Given the description of an element on the screen output the (x, y) to click on. 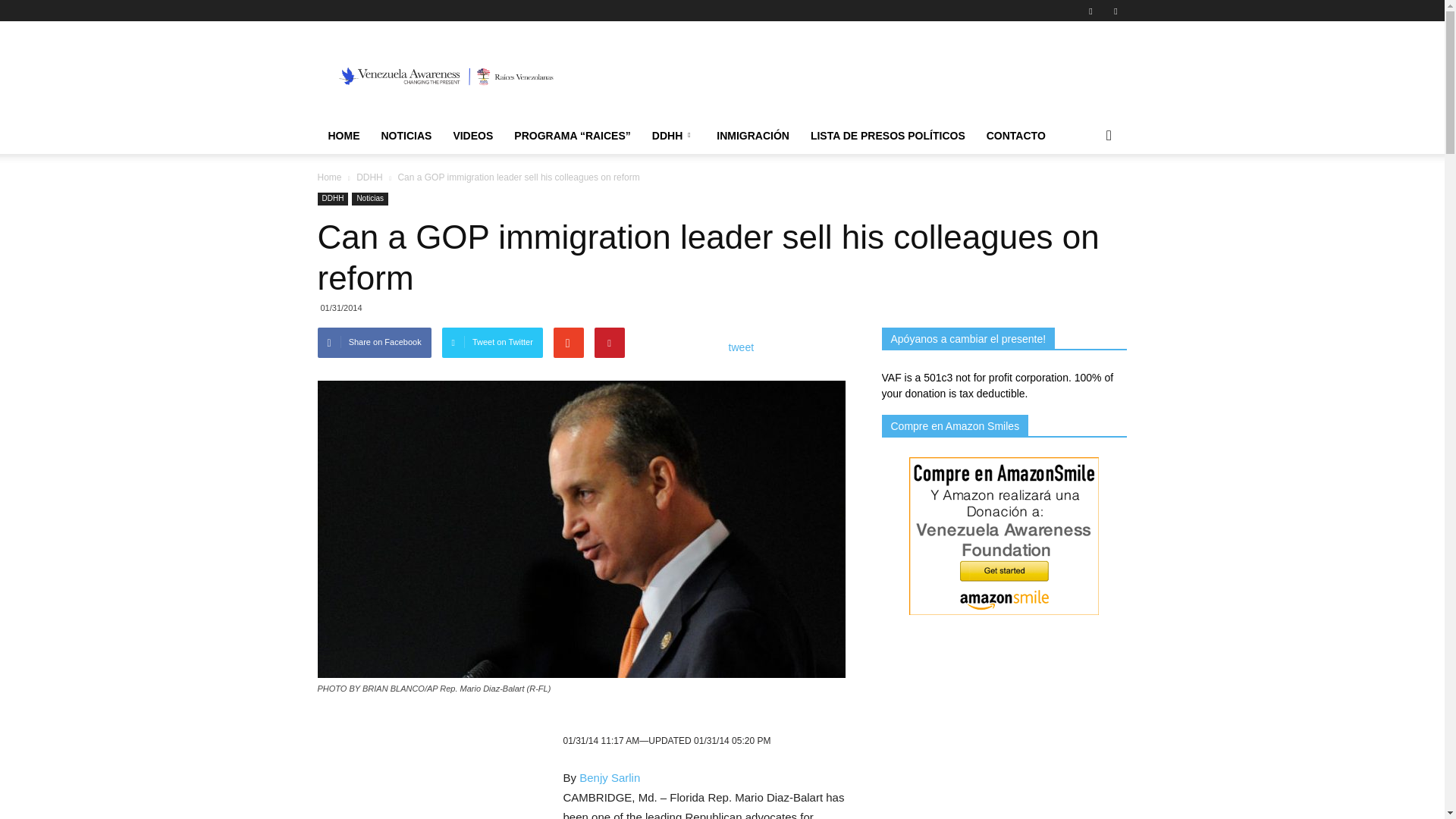
DDHH (369, 176)
HOME (343, 135)
CONTACTO (1016, 135)
Tweet on Twitter (492, 342)
VIDEOS (472, 135)
DDHH (674, 135)
Facebook (1090, 10)
Home (328, 176)
Twitter (1114, 10)
Noticias (370, 198)
DDHH (332, 198)
NOTICIAS (405, 135)
Share on Facebook (373, 342)
View all posts in DDHH (369, 176)
